Given the description of an element on the screen output the (x, y) to click on. 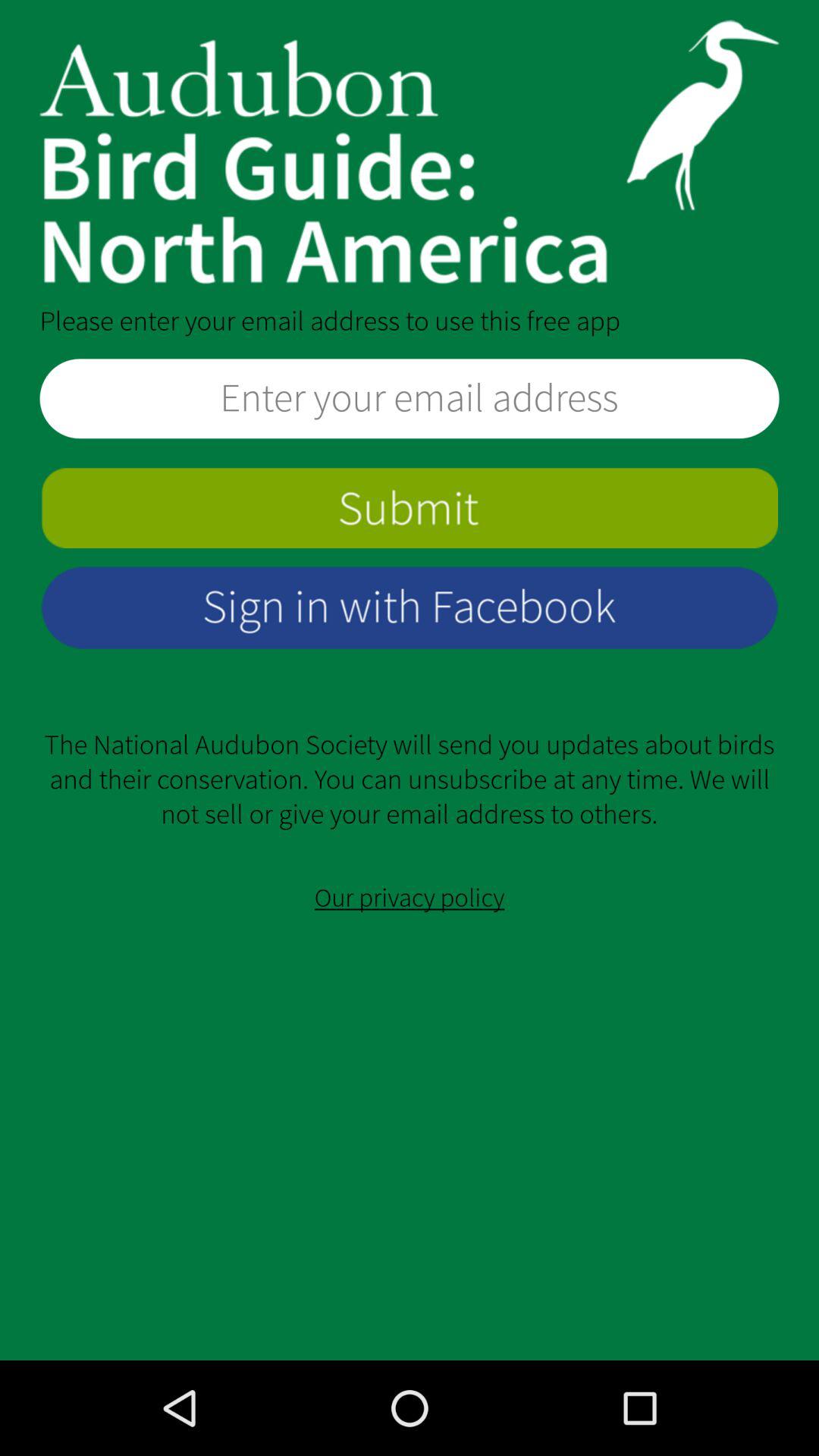
click icon below the please enter your item (409, 398)
